Given the description of an element on the screen output the (x, y) to click on. 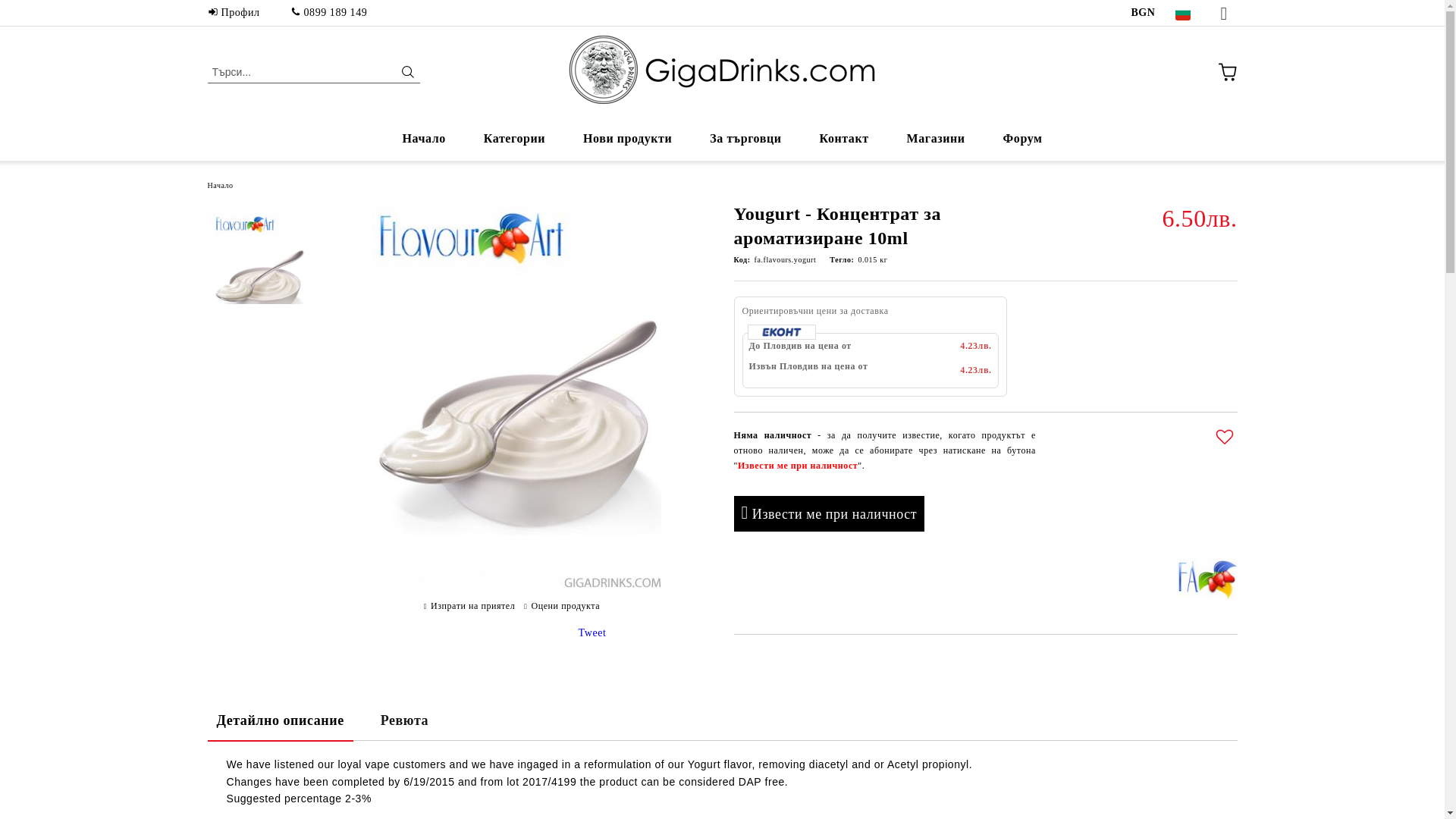
Facebook (1229, 12)
Share links (472, 633)
0899 189 149 (328, 12)
